Given the description of an element on the screen output the (x, y) to click on. 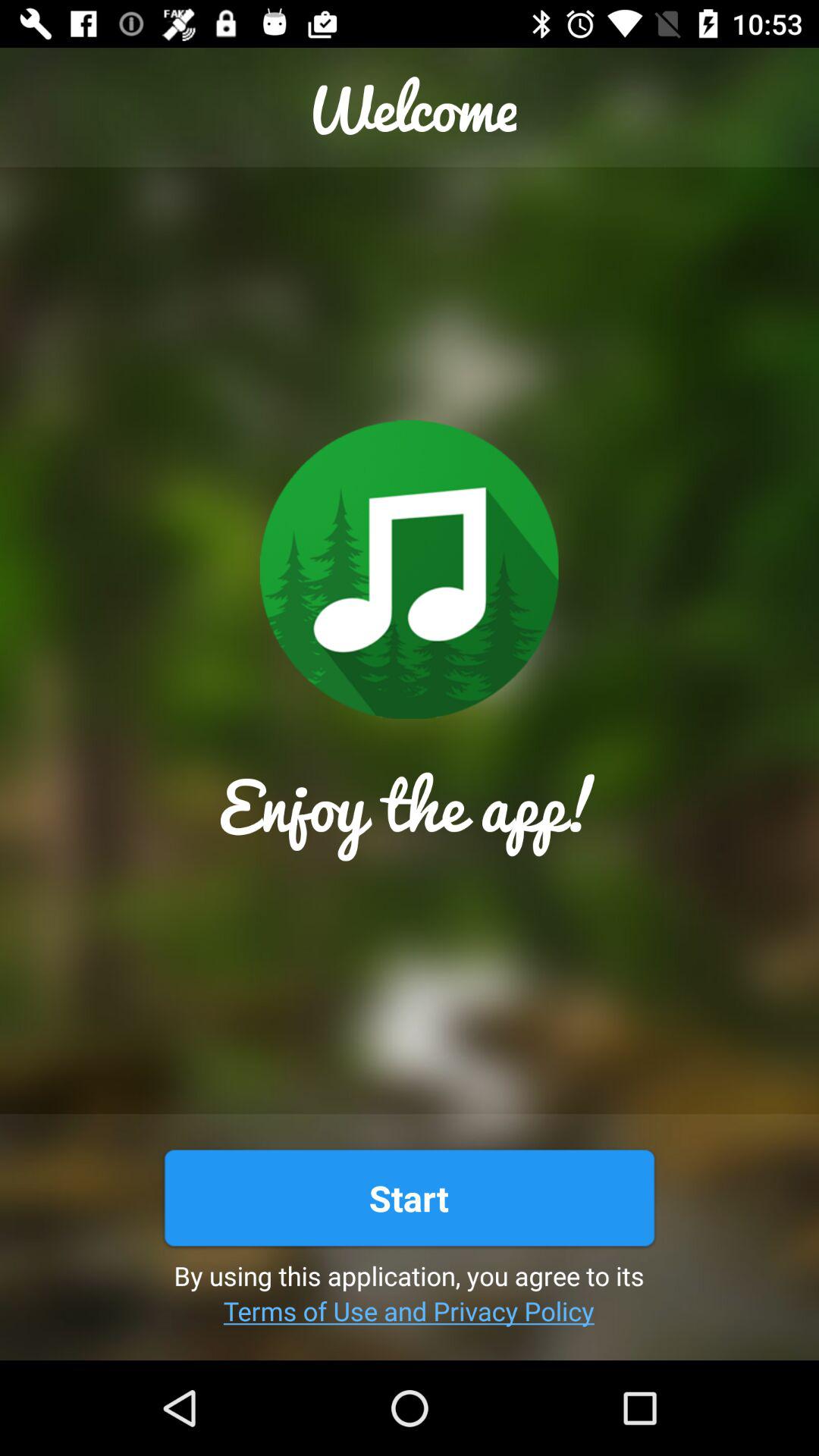
click icon below enjoy the app! item (409, 1198)
